Given the description of an element on the screen output the (x, y) to click on. 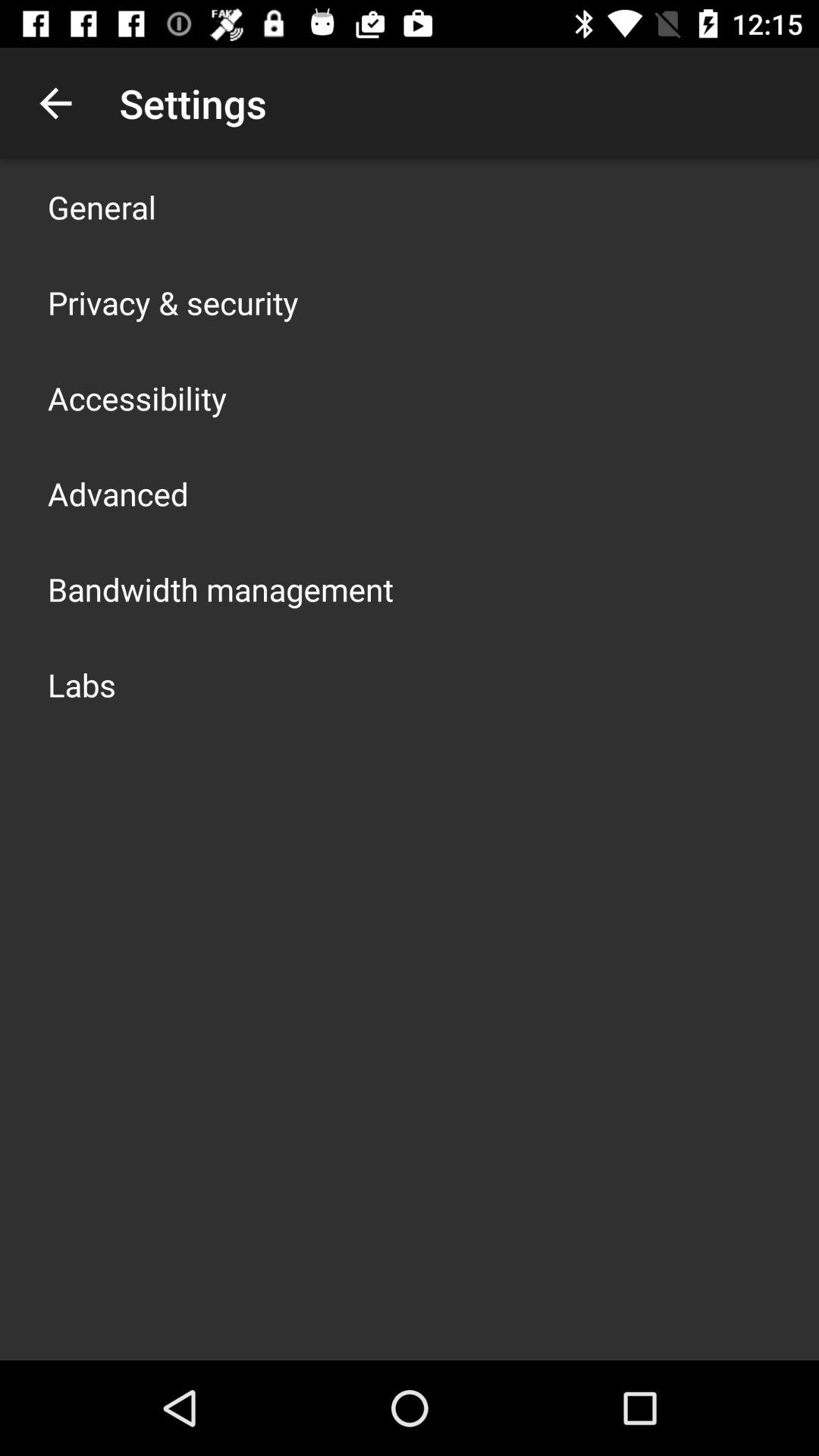
turn on the accessibility (136, 397)
